Given the description of an element on the screen output the (x, y) to click on. 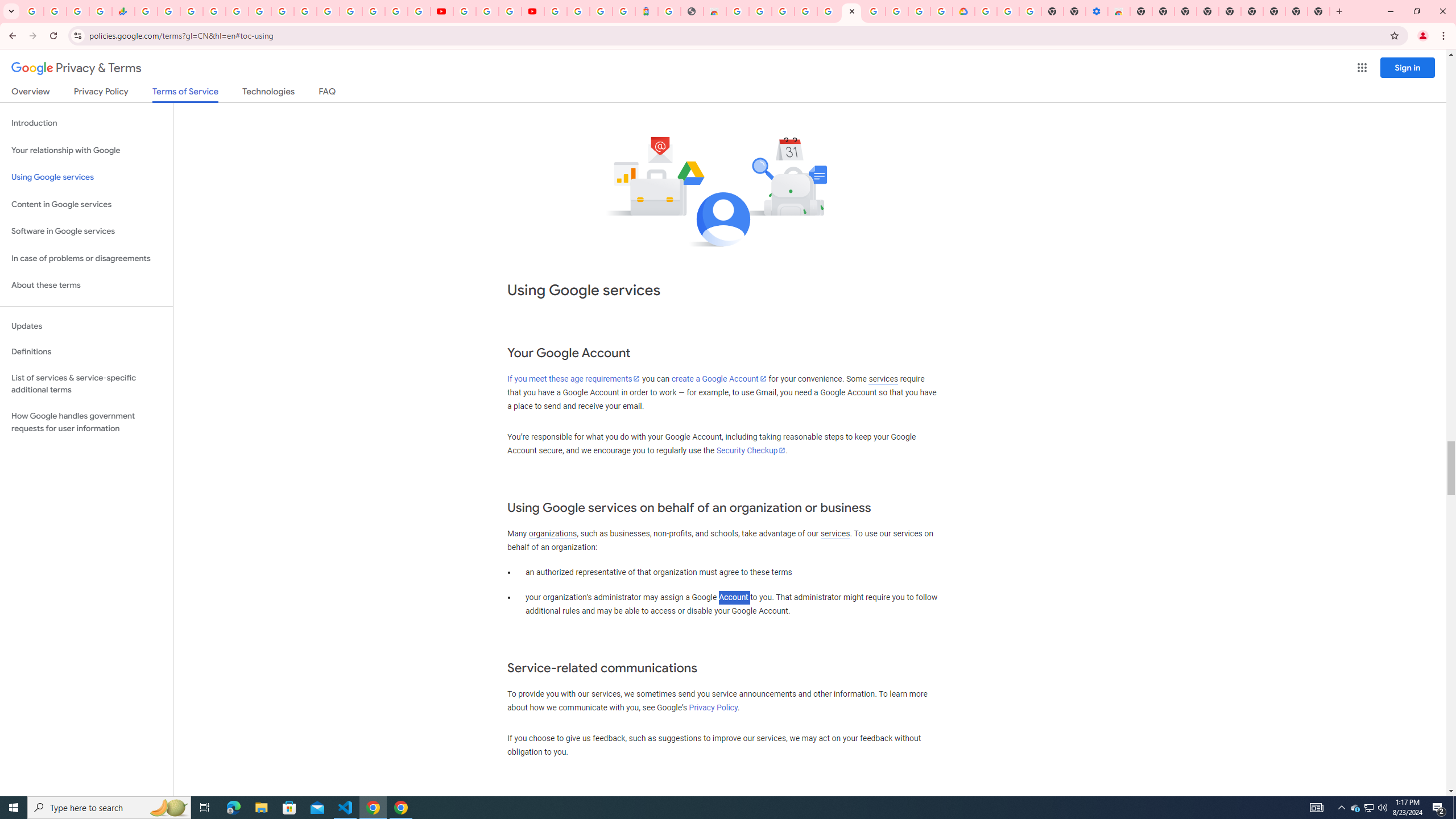
Sign in - Google Accounts (373, 11)
New Tab (1141, 11)
Software in Google services (86, 230)
Chrome Web Store - Household (714, 11)
Sign in - Google Accounts (555, 11)
YouTube (464, 11)
Create your Google Account (760, 11)
Technologies (268, 93)
